Given the description of an element on the screen output the (x, y) to click on. 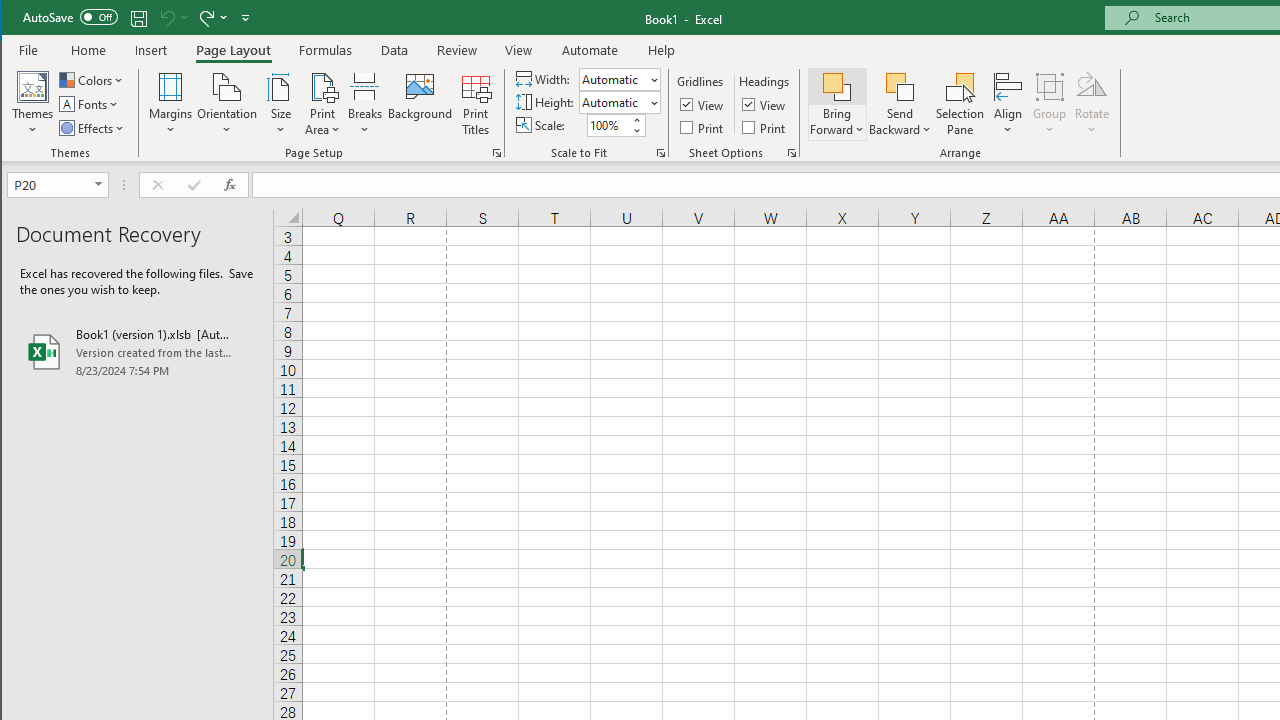
Automate (589, 50)
Send Backward (900, 104)
Sheet Options (791, 152)
More (636, 120)
Print (765, 126)
Print Titles (475, 104)
Fonts (90, 103)
Book1 (version 1).xlsb  [AutoRecovered] (137, 352)
Align (1007, 104)
